Given the description of an element on the screen output the (x, y) to click on. 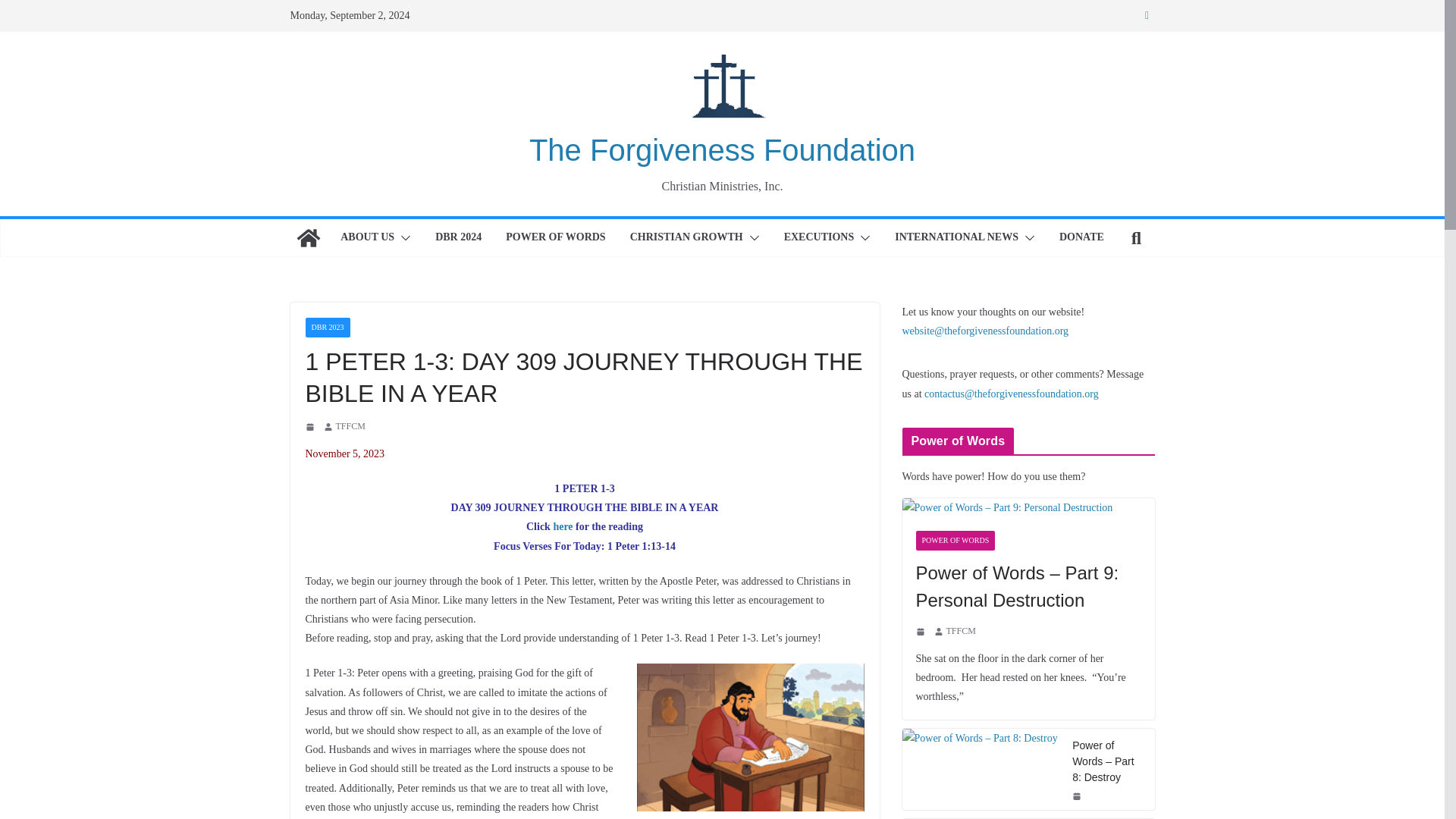
INTERNATIONAL NEWS (956, 237)
EXECUTIONS (819, 237)
TFFCM (349, 426)
The Forgiveness Foundation (722, 150)
The Forgiveness Foundation (722, 150)
POWER OF WORDS (555, 237)
1:27 am (310, 426)
The Forgiveness Foundation (307, 238)
CHRISTIAN GROWTH (686, 237)
DBR 2024 (458, 237)
